Given the description of an element on the screen output the (x, y) to click on. 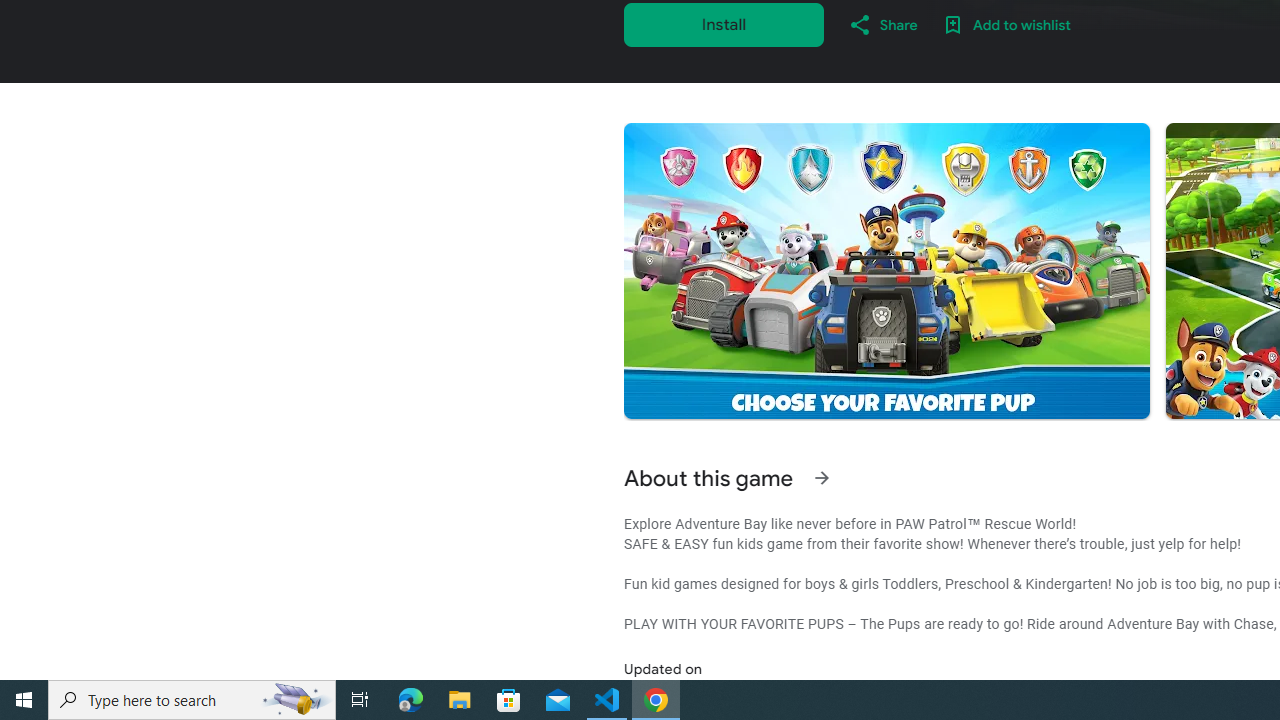
Screenshot image (886, 271)
Share (881, 24)
Add to wishlist (1006, 24)
See more information on About this game (821, 477)
Install (723, 24)
